Given the description of an element on the screen output the (x, y) to click on. 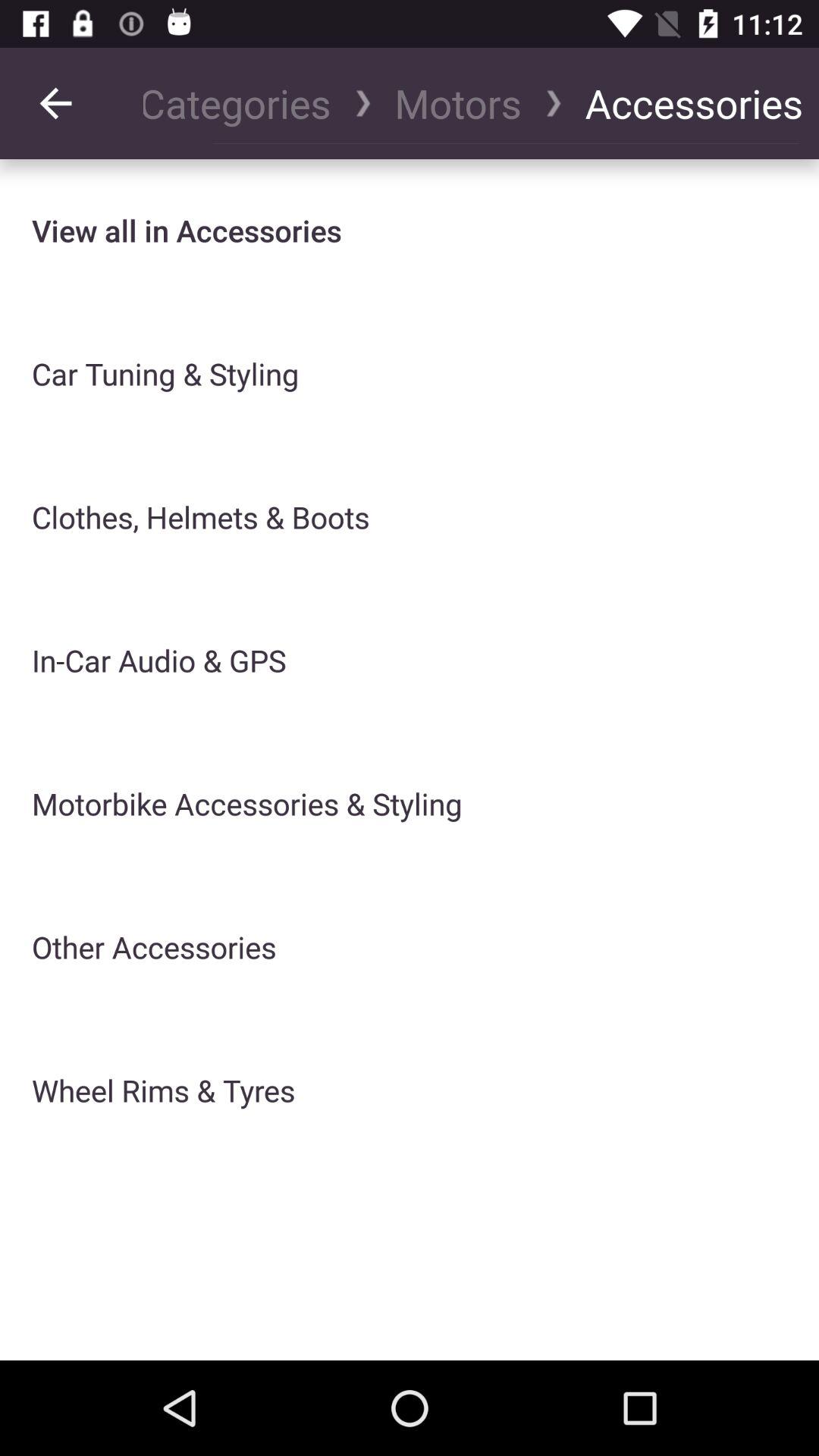
click icon below the clothes, helmets & boots (158, 660)
